Given the description of an element on the screen output the (x, y) to click on. 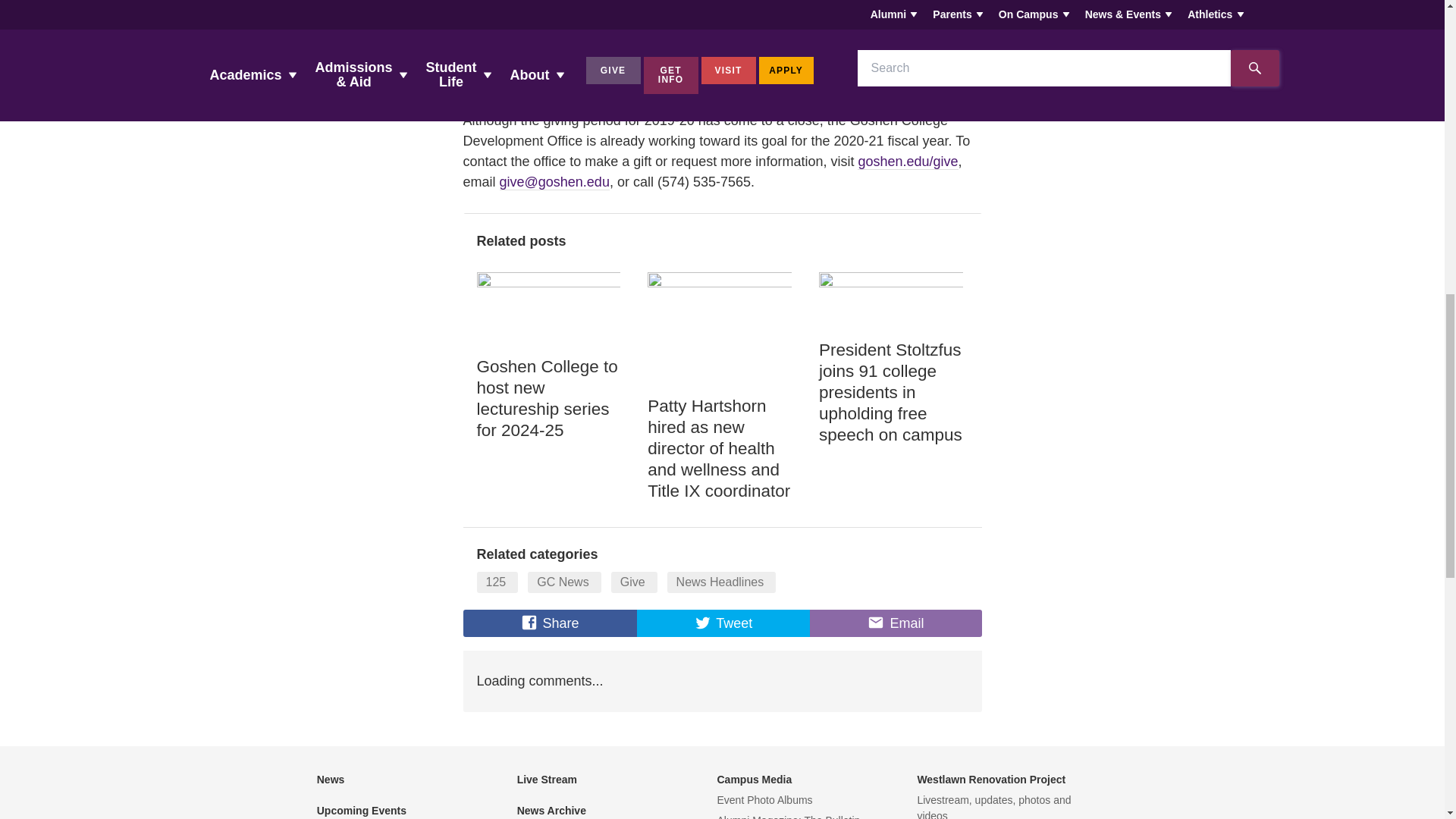
125 category (497, 581)
Share on Facebook (549, 623)
Give category (634, 581)
News Headlines category (721, 581)
GC News category (563, 581)
Share via Email (895, 623)
Share on Twitter (723, 623)
